Given the description of an element on the screen output the (x, y) to click on. 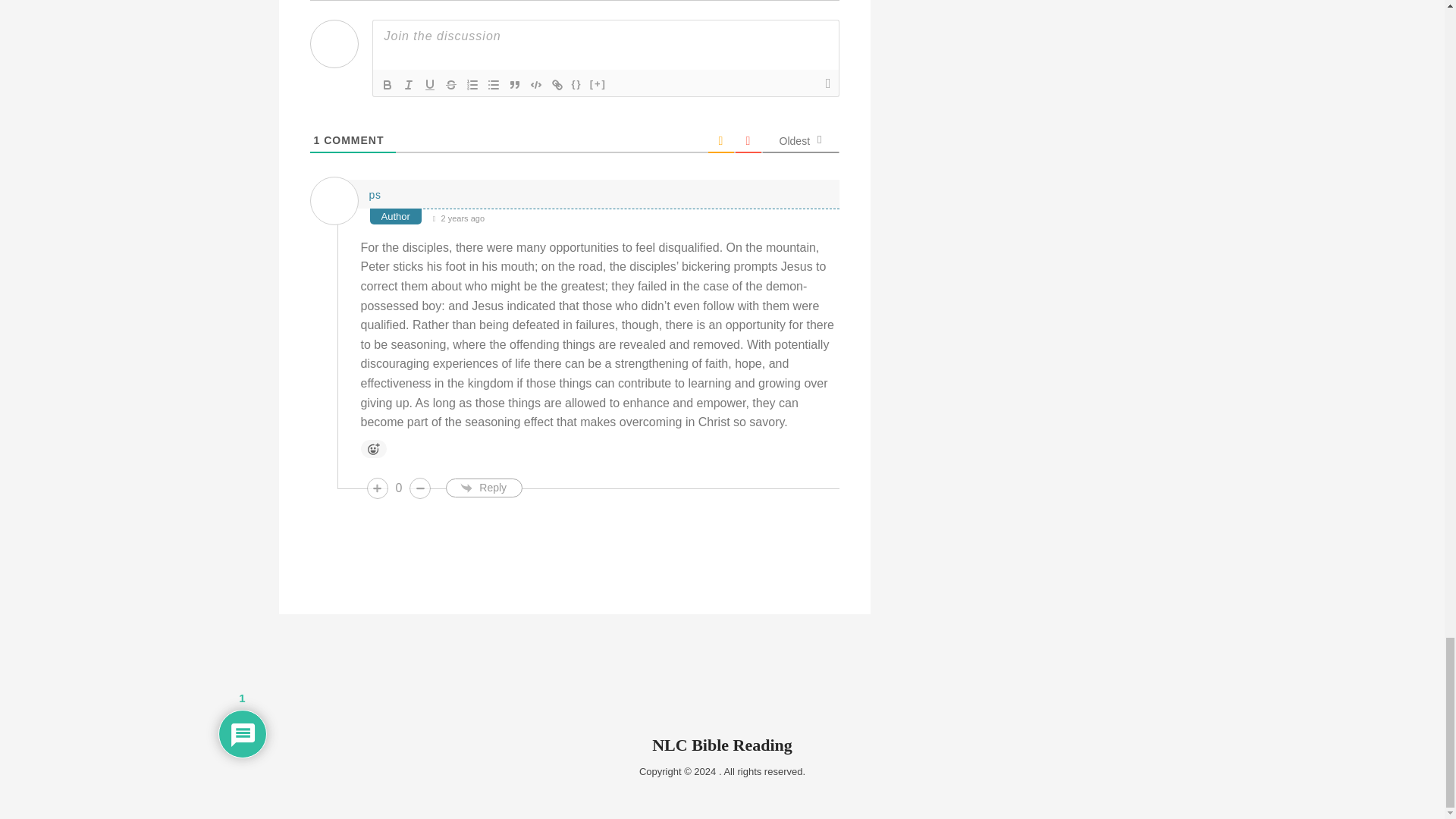
Strike (450, 85)
Code Block (535, 85)
Spoiler (598, 85)
ps (374, 194)
Italic (408, 85)
Unordered List (492, 85)
ordered (471, 85)
bullet (492, 85)
Blockquote (513, 85)
Underline (429, 85)
